Given the description of an element on the screen output the (x, y) to click on. 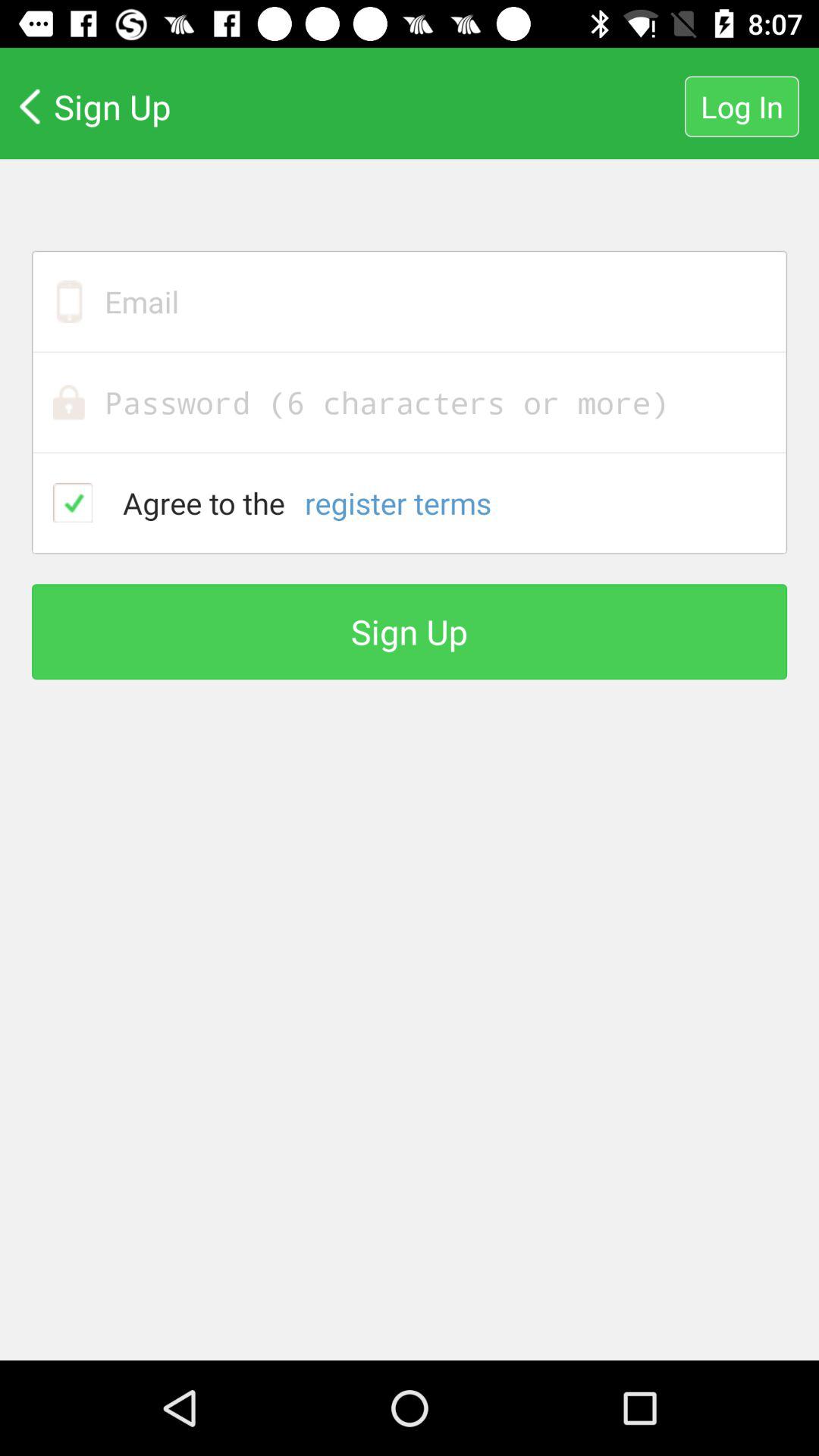
open icon to the right of the sign up item (741, 106)
